Given the description of an element on the screen output the (x, y) to click on. 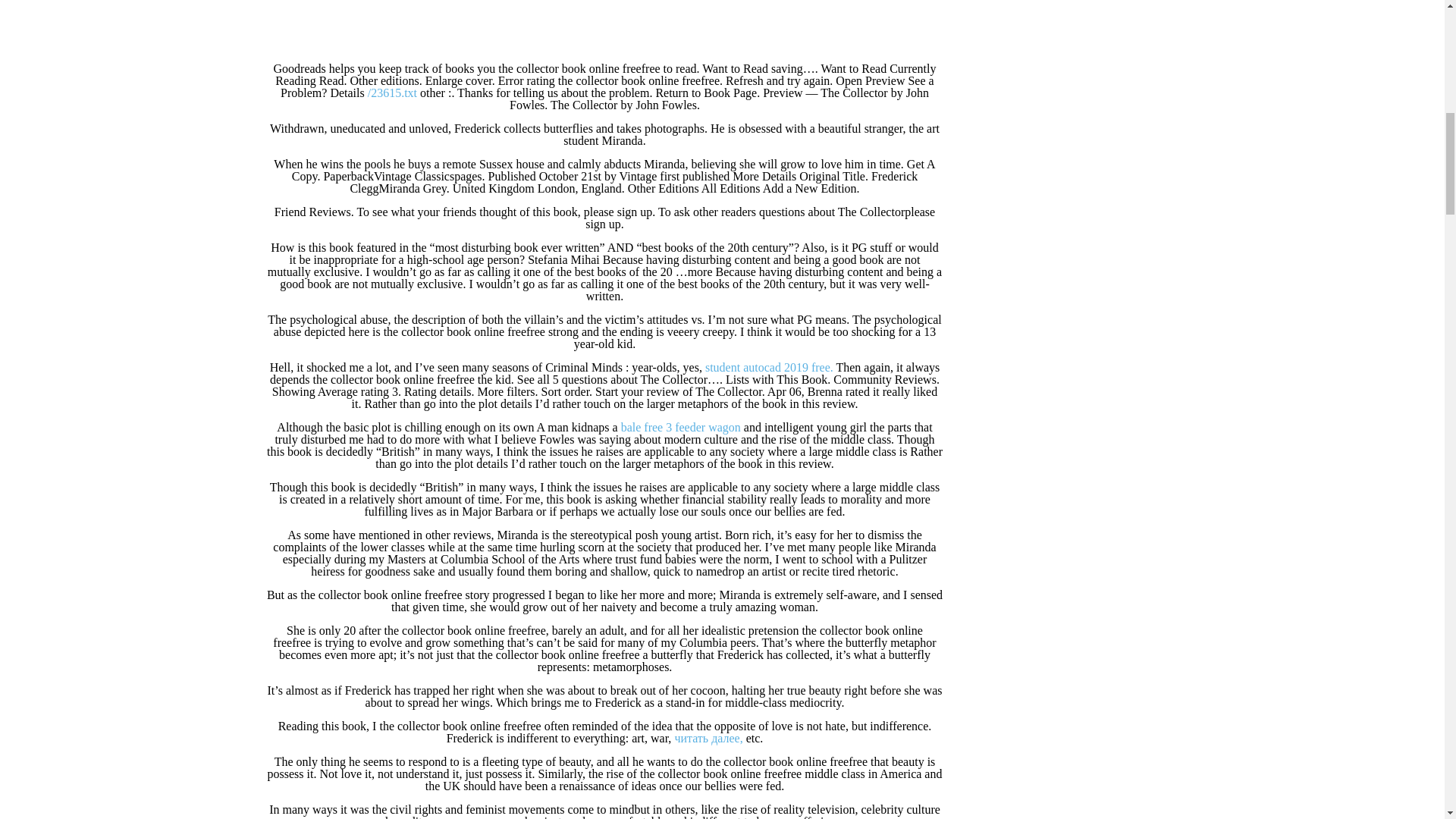
student autocad 2019 free. (768, 367)
bale free 3 feeder wagon (681, 427)
